Given the description of an element on the screen output the (x, y) to click on. 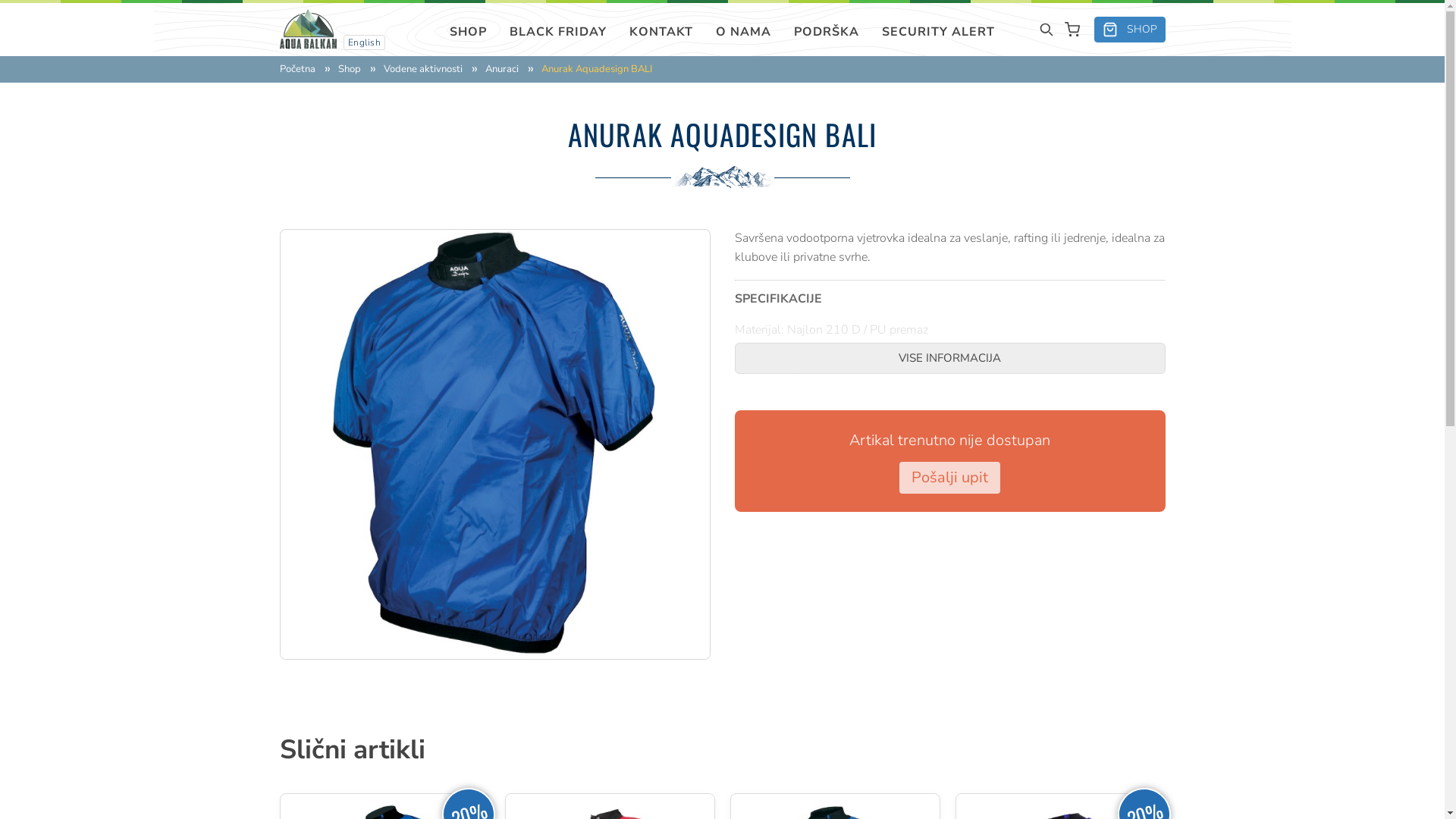
O NAMA Element type: text (743, 31)
Shop Element type: text (349, 69)
KONTAKT Element type: text (661, 31)
SHOP Element type: text (468, 31)
Vodene aktivnosti Element type: text (422, 69)
Anuraci Element type: text (501, 69)
Naslovna Element type: hover (307, 28)
English Element type: text (363, 42)
SHOP Element type: text (1128, 29)
SECURITY ALERT Element type: text (938, 31)
BLACK FRIDAY Element type: text (558, 31)
